Given the description of an element on the screen output the (x, y) to click on. 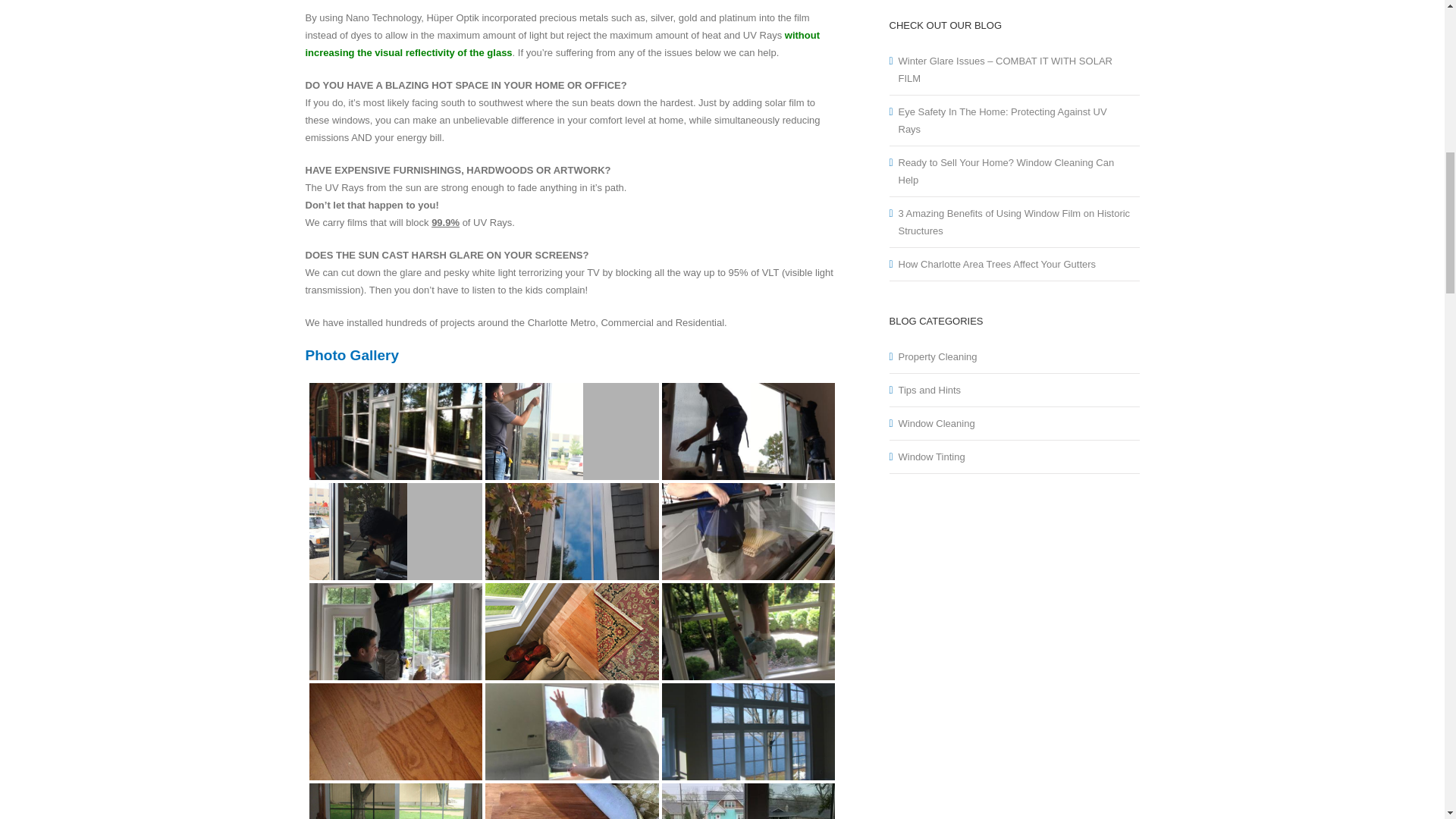
Left YEP, Right NOPE (395, 773)
Sun Damage Hardwood Floors (571, 631)
Ceramic Window Film (533, 431)
Beautiful View (748, 731)
Daytime Privacy Window Film (571, 531)
Attention to Detail (357, 531)
Team Work! (395, 631)
Protect Your Floors (572, 800)
Professional Install (571, 732)
Faded Hardwood Flooring (395, 732)
Overcast Protection (748, 767)
Glare Reducing Window Film (748, 431)
Sunroom MINUS Heat (395, 431)
I Can See the Light (748, 631)
Expert Installation (748, 531)
